Given the description of an element on the screen output the (x, y) to click on. 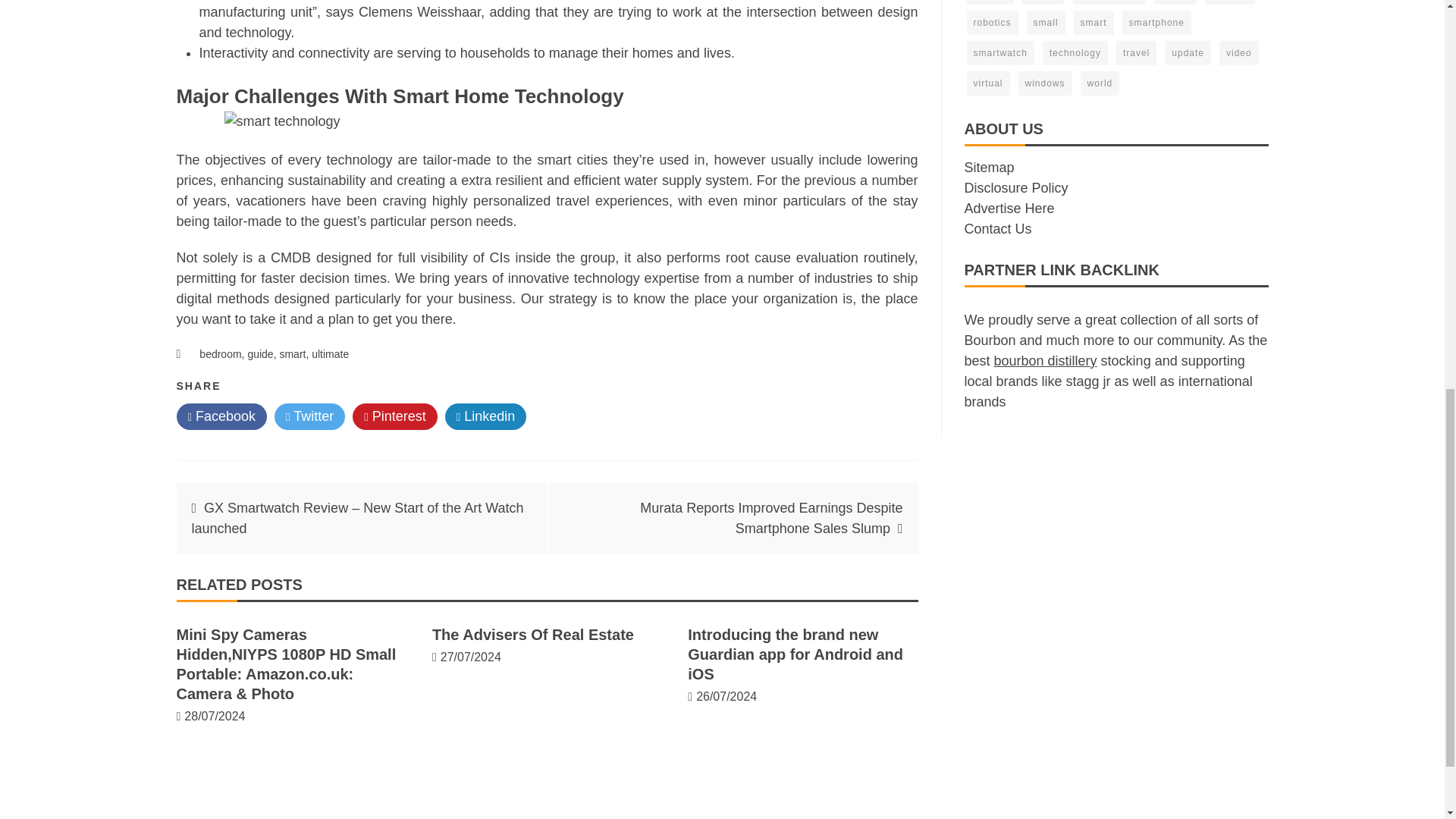
Linkedin (486, 416)
Facebook (221, 416)
Twitter (310, 416)
Introducing the brand new Guardian app for Android and iOS (794, 654)
The Advisers Of Real Estate (532, 634)
bedroom (220, 354)
ultimate (330, 354)
Pinterest (395, 416)
smart (292, 354)
guide (260, 354)
